Given the description of an element on the screen output the (x, y) to click on. 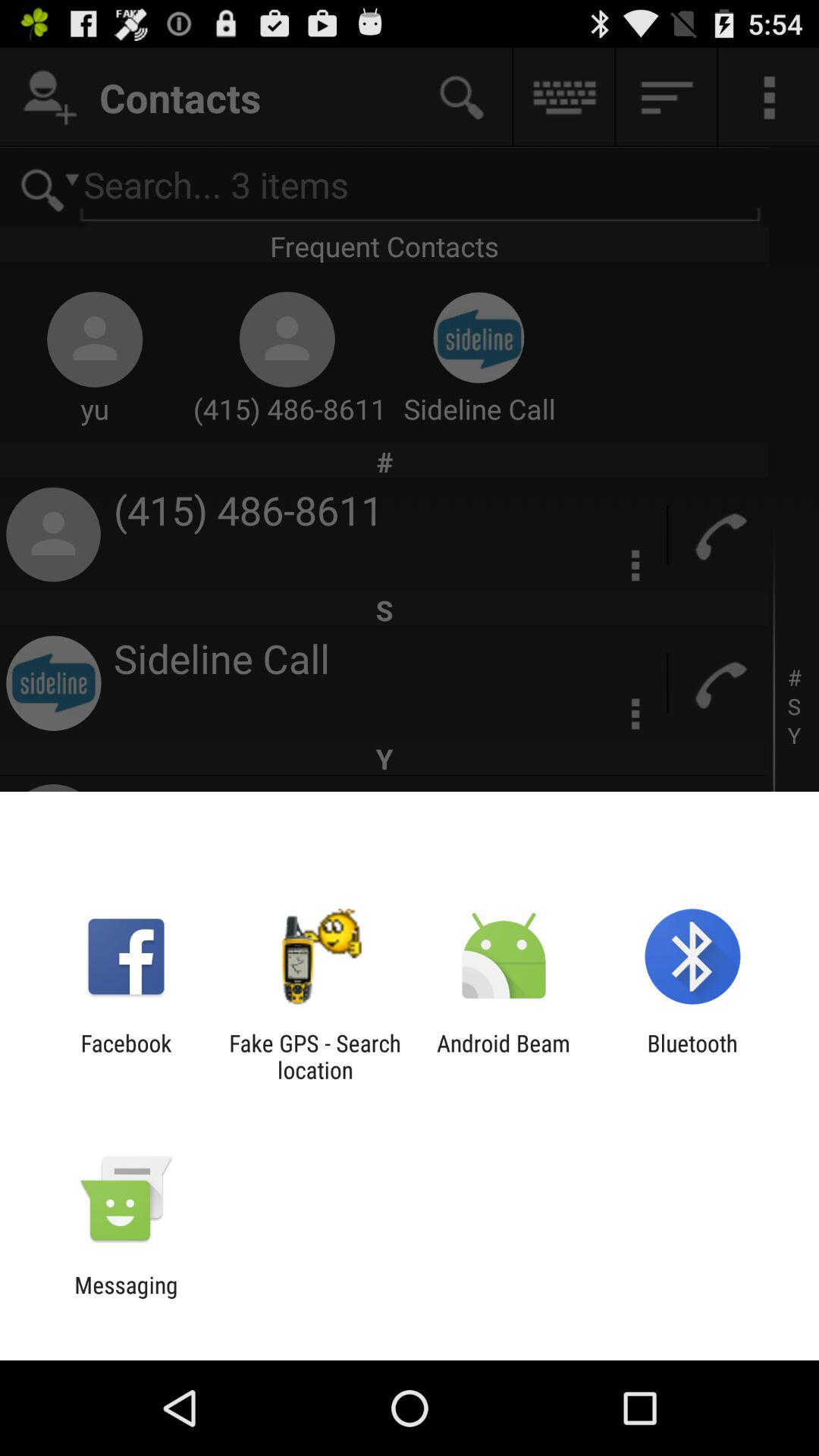
select the bluetooth (692, 1056)
